Given the description of an element on the screen output the (x, y) to click on. 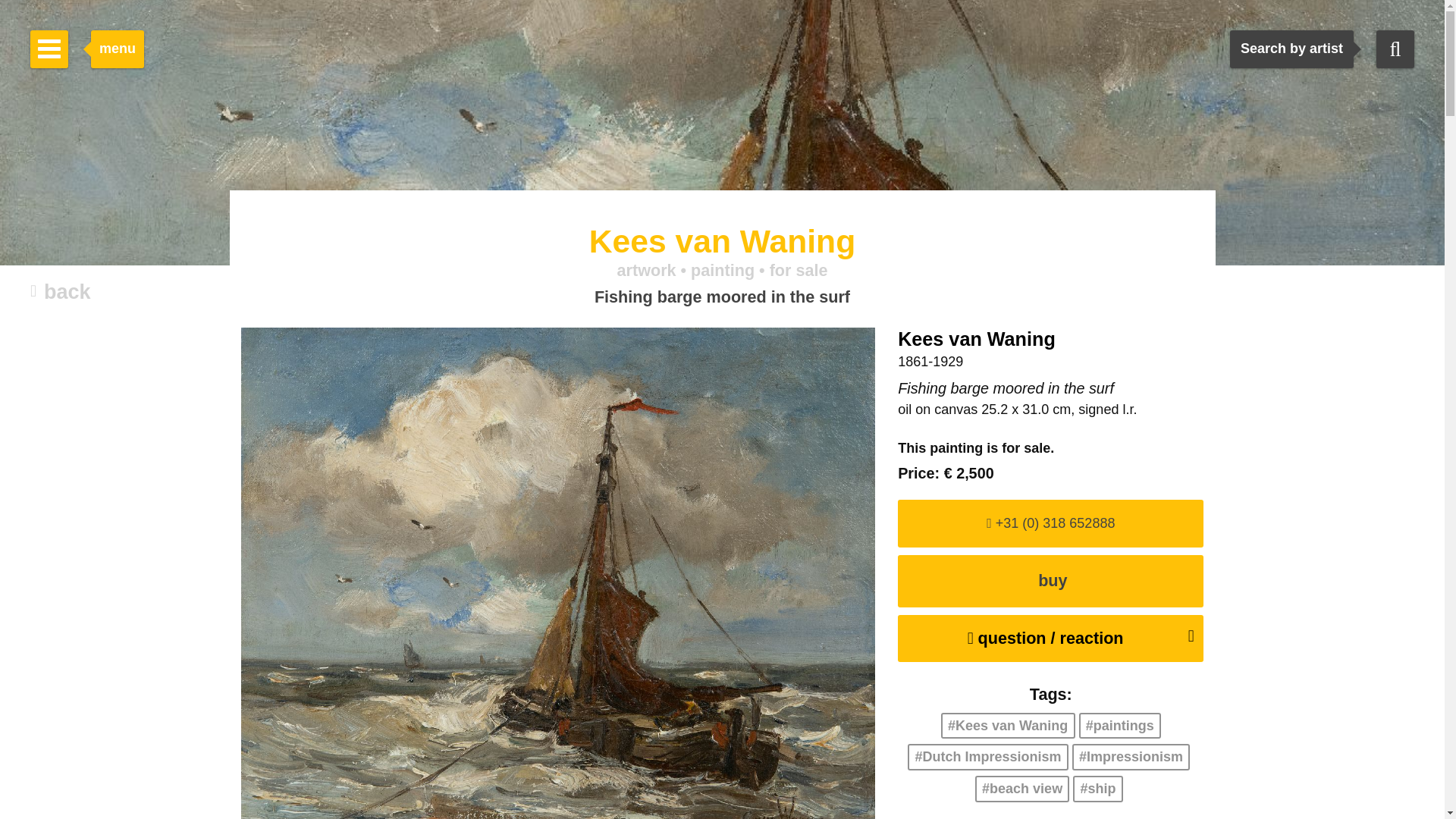
back (60, 291)
